Given the description of an element on the screen output the (x, y) to click on. 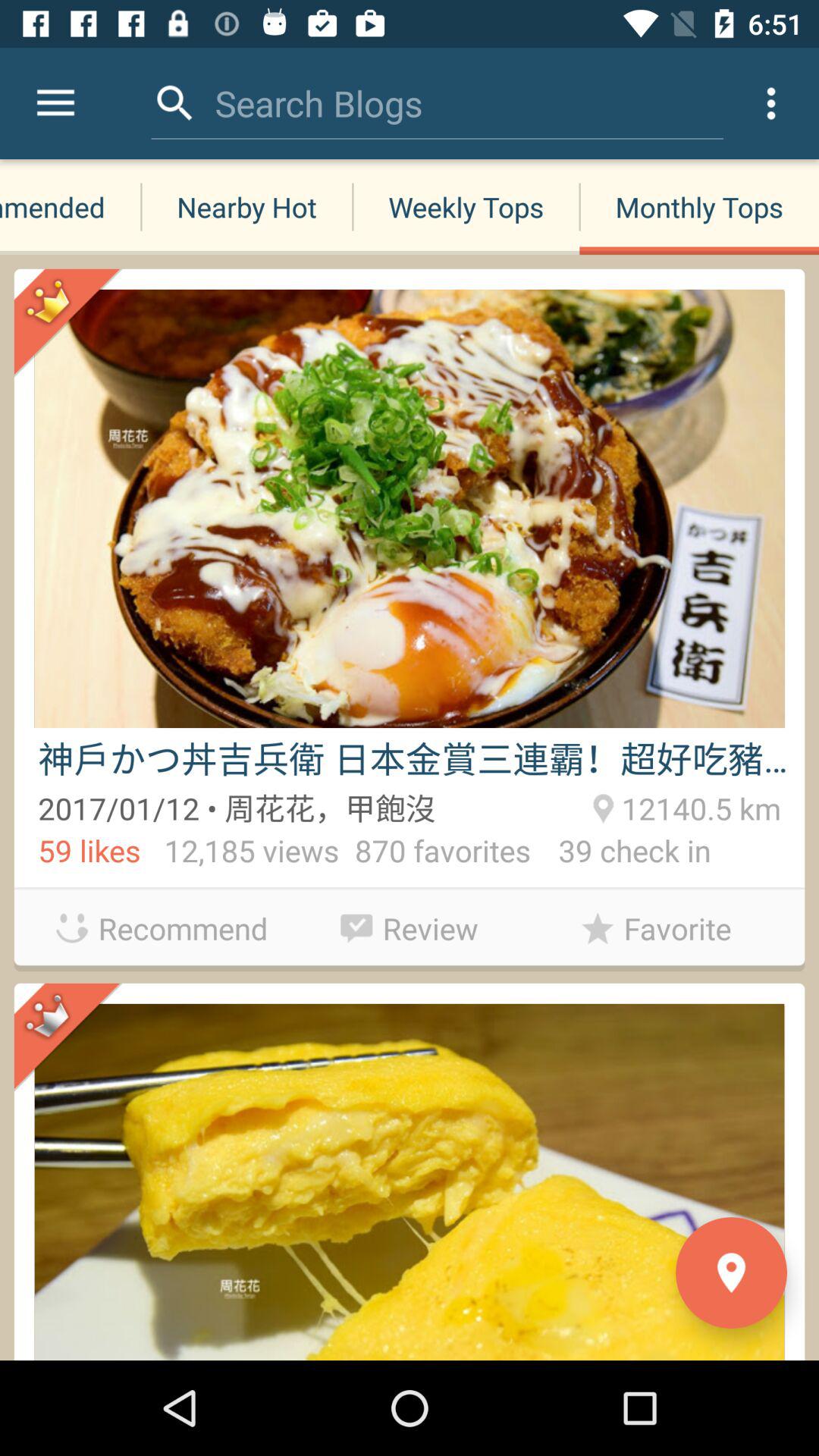
select app to the right of the recommend app (409, 924)
